Given the description of an element on the screen output the (x, y) to click on. 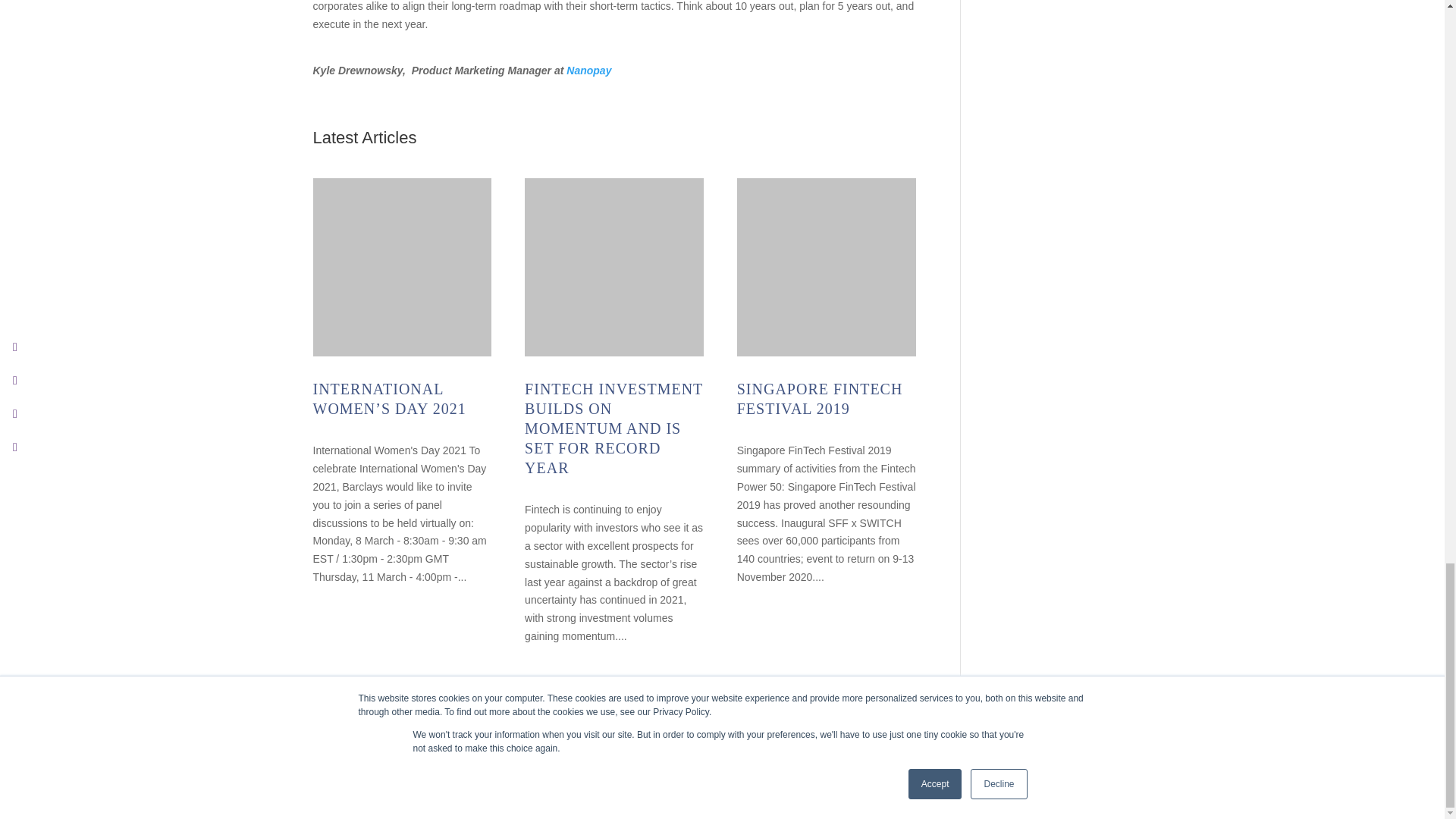
Nanopay (588, 70)
Funky Grafix Website Services (914, 798)
